Given the description of an element on the screen output the (x, y) to click on. 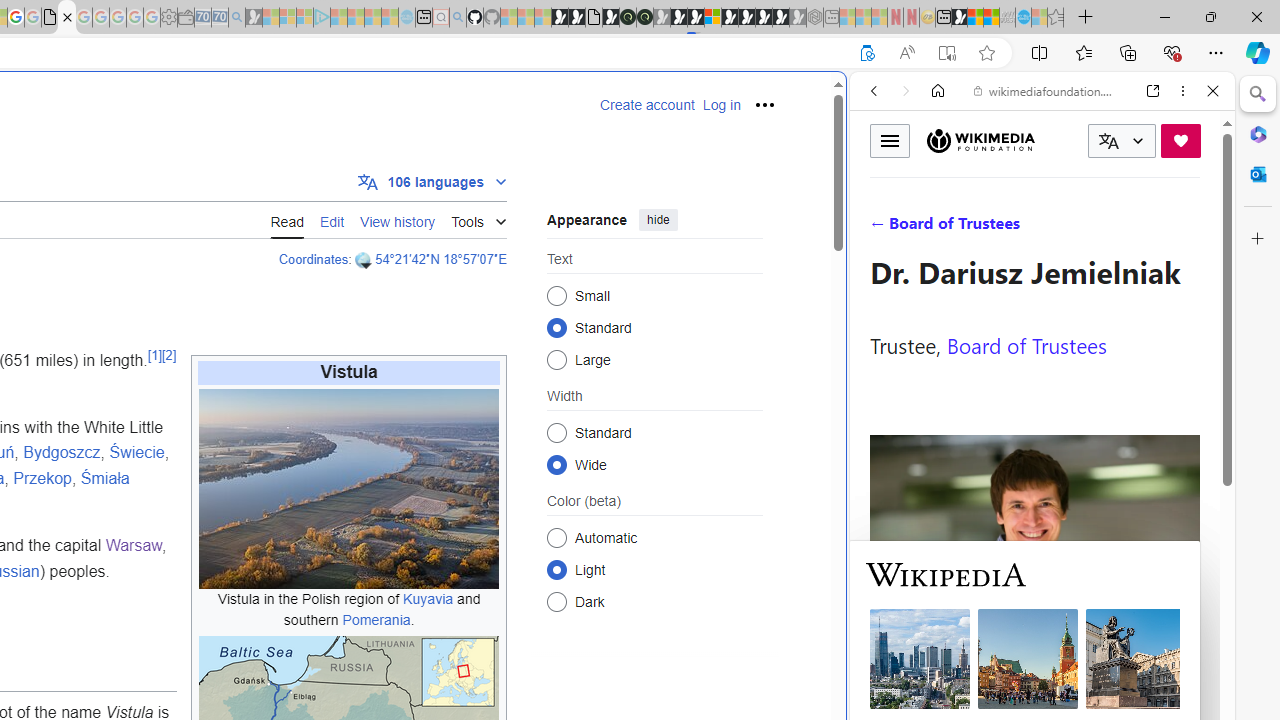
To get missing image descriptions, open the context menu. (349, 488)
Microsoft account | Privacy - Sleeping (305, 17)
